Given the description of an element on the screen output the (x, y) to click on. 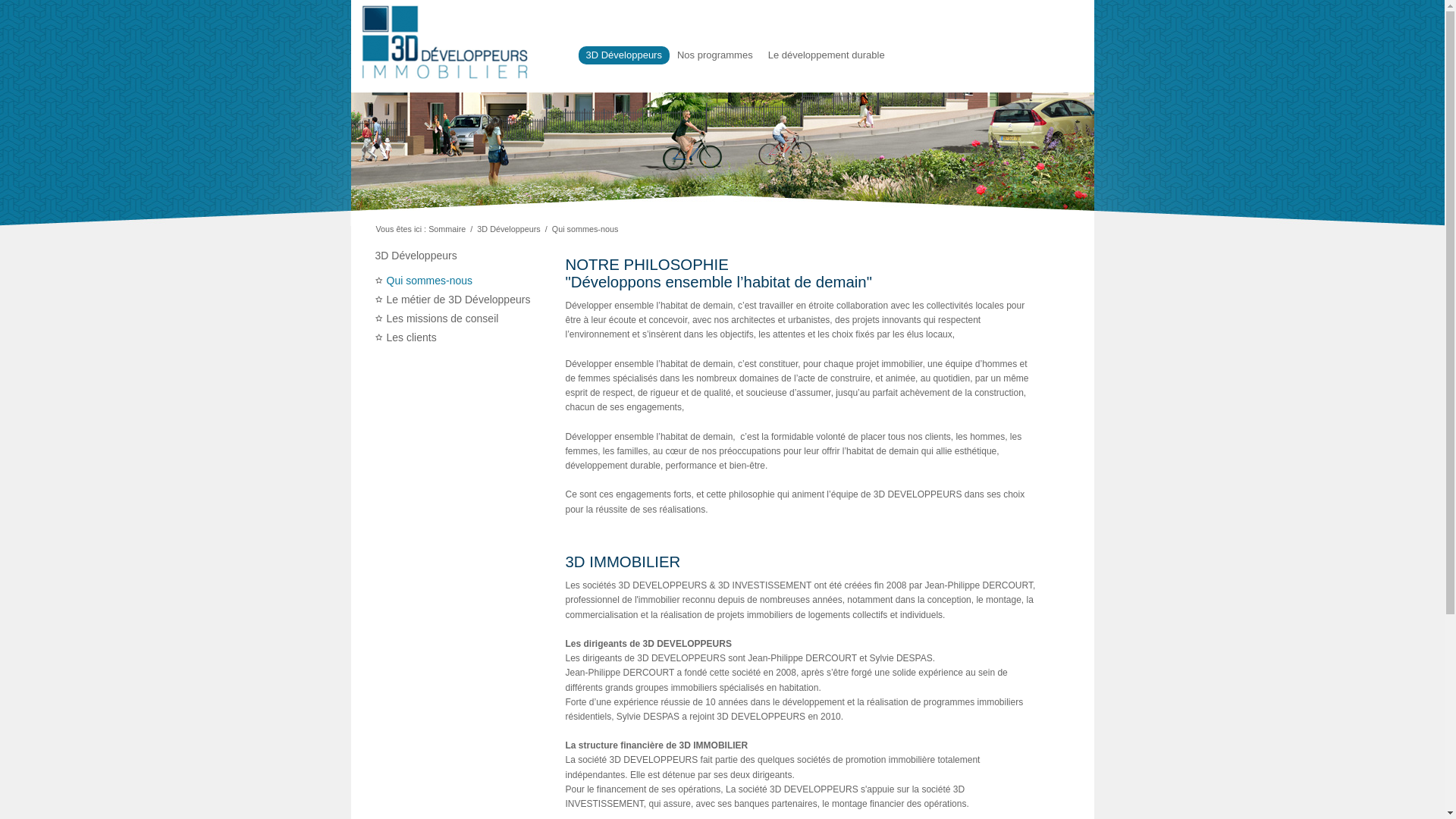
Nos programmes Element type: text (714, 55)
Sommaire Element type: text (446, 228)
Les missions de conseil Element type: text (442, 318)
3D Developpeurs Element type: hover (443, 46)
Qui sommes-nous Element type: text (429, 280)
Qui sommes-nous Element type: text (585, 228)
Les clients Element type: text (411, 337)
